Given the description of an element on the screen output the (x, y) to click on. 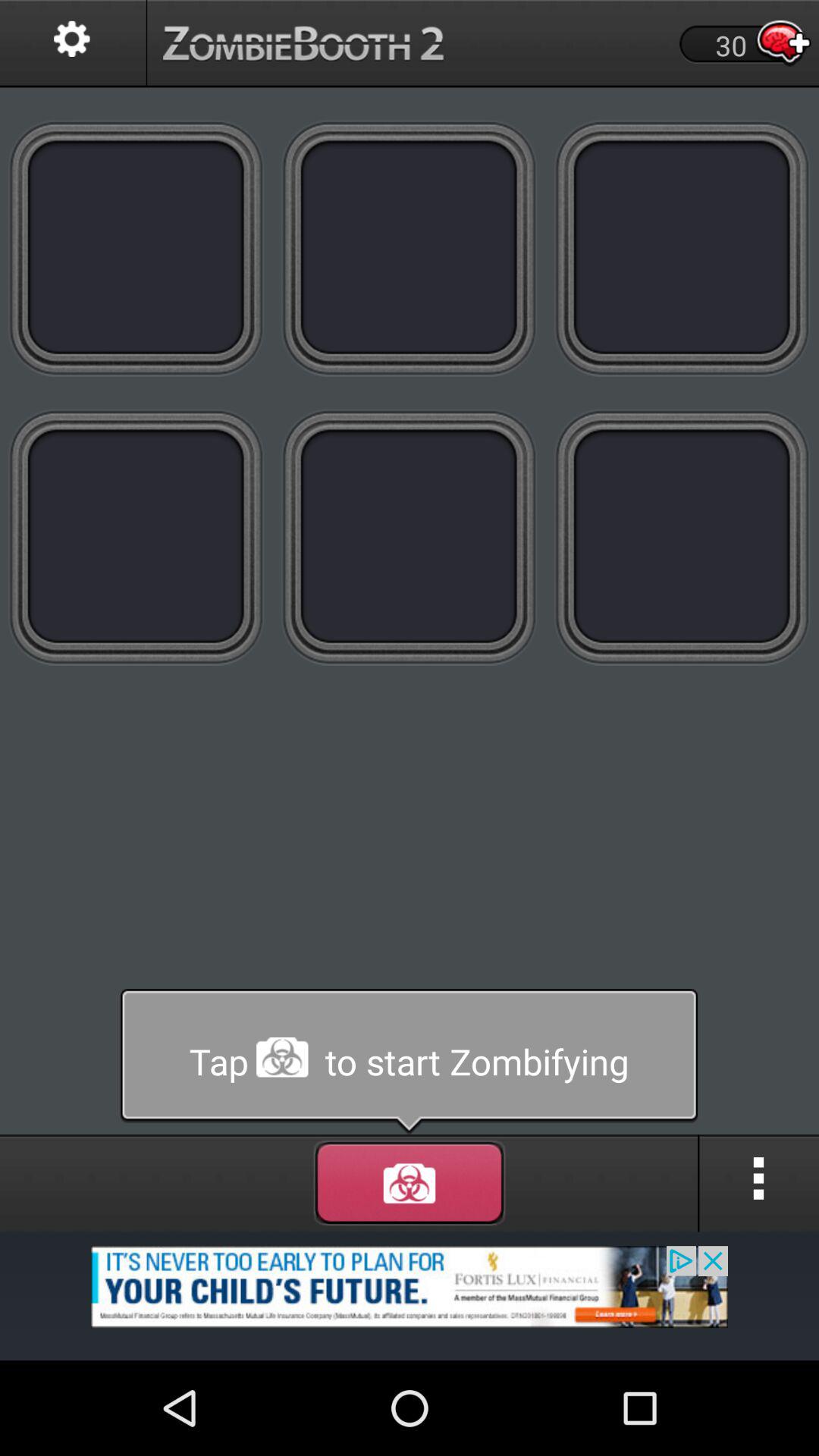
blank box button (136, 247)
